Given the description of an element on the screen output the (x, y) to click on. 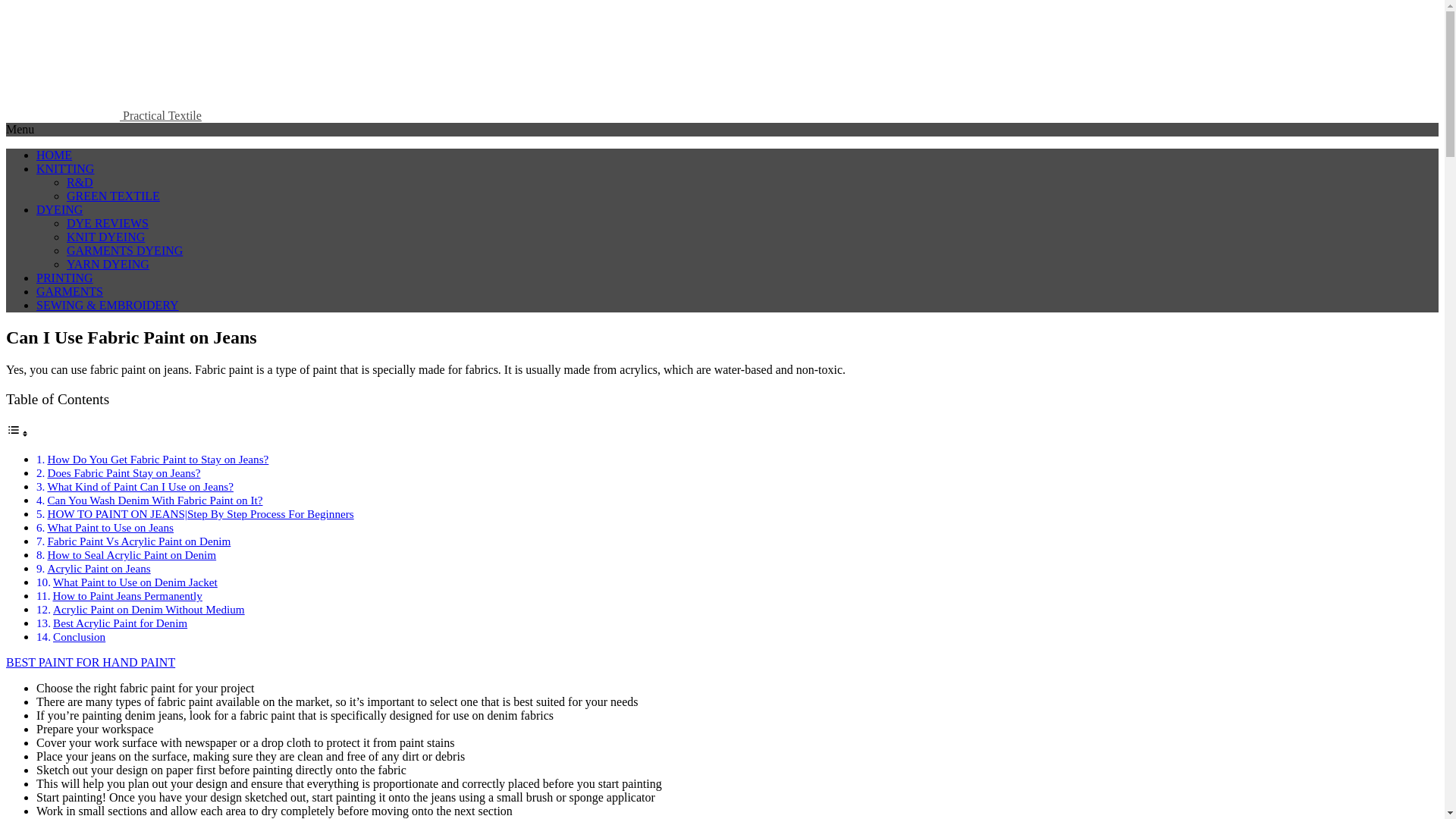
GARMENTS DYEING (124, 250)
What Paint to Use on Jeans (109, 526)
DYE REVIEWS (107, 223)
KNIT DYEING (105, 236)
GARMENTS (69, 291)
Acrylic Paint on Denim Without Medium (148, 608)
How Do You Get Fabric Paint to Stay on Jeans? (156, 459)
Does Fabric Paint Stay on Jeans? (123, 472)
Fabric Paint Vs Acrylic Paint on Denim (138, 540)
What Kind of Paint Can I Use on Jeans? (139, 486)
